Given the description of an element on the screen output the (x, y) to click on. 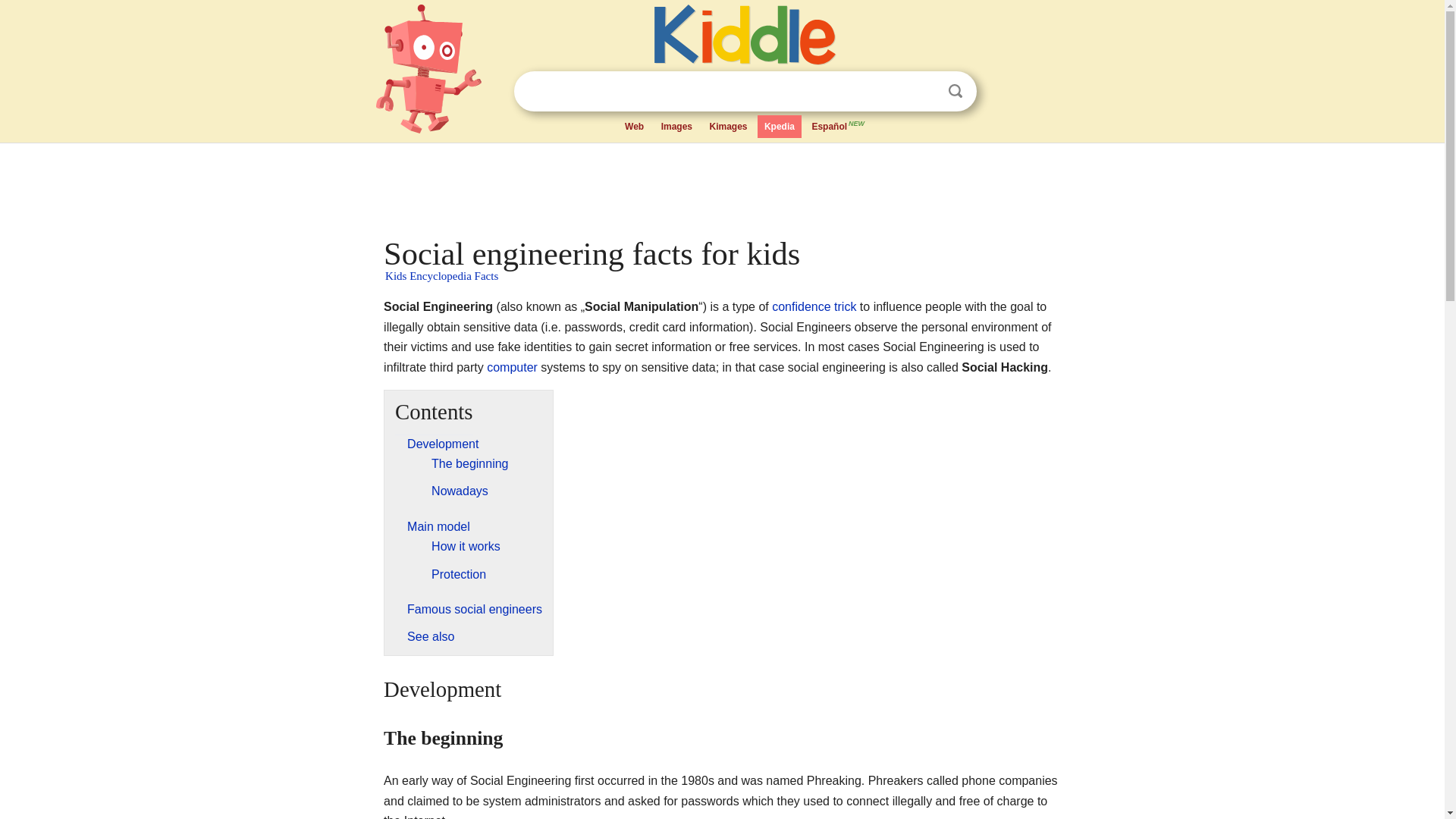
Nowadays (458, 490)
Kpedia (779, 126)
Famous social engineers (474, 608)
The beginning (469, 463)
How it works (465, 545)
Kids Encyclopedia Facts (441, 275)
Computer (511, 367)
Search (955, 91)
Confidence trick (813, 306)
Kimages (727, 126)
